Given the description of an element on the screen output the (x, y) to click on. 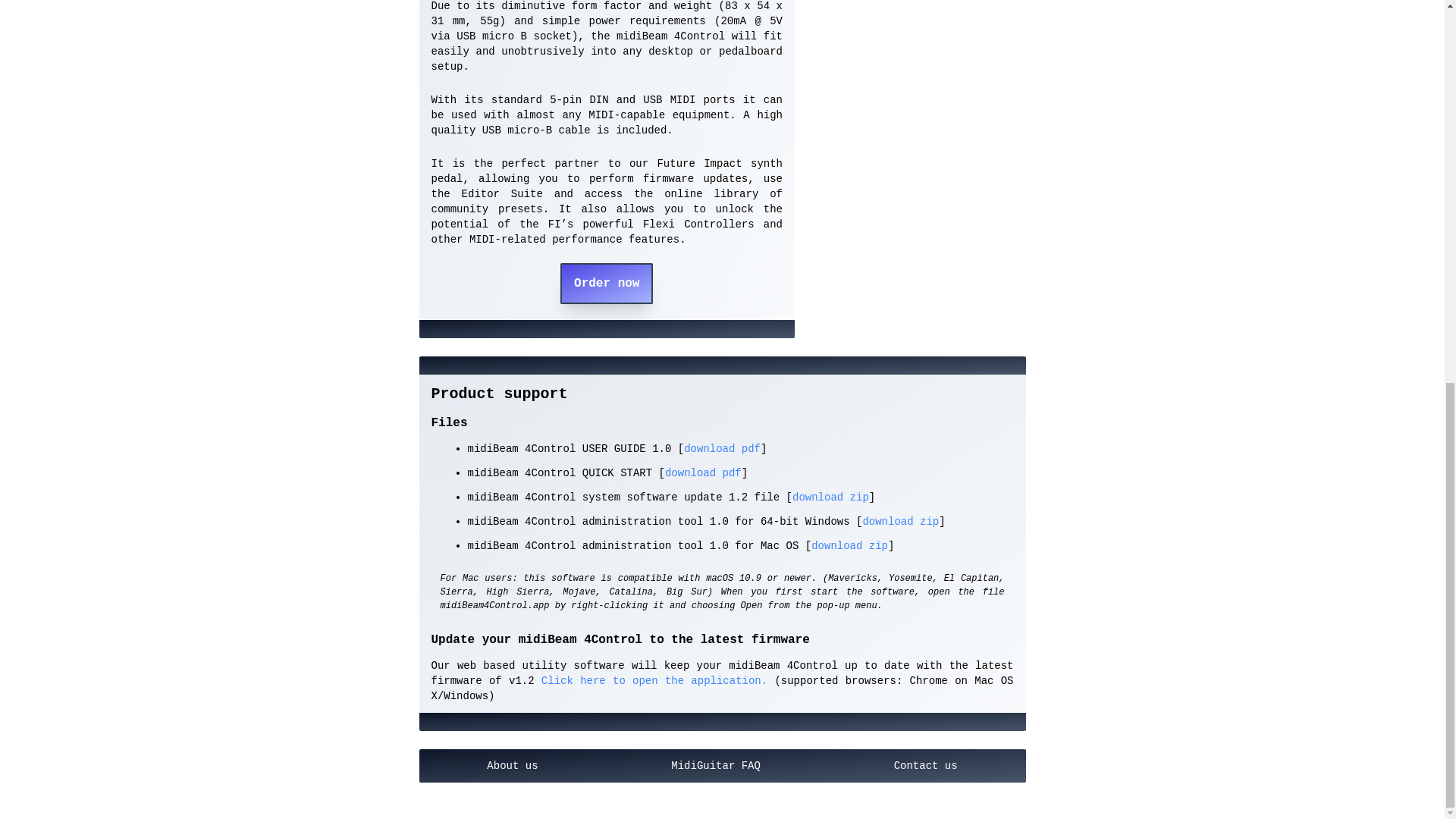
About us (512, 765)
Contact us (925, 765)
download zip (900, 521)
download pdf (703, 472)
download pdf (722, 449)
Click here to open the application. (651, 680)
download zip (830, 497)
MidiGuitar FAQ (715, 765)
download zip (849, 545)
Order now (606, 282)
